Given the description of an element on the screen output the (x, y) to click on. 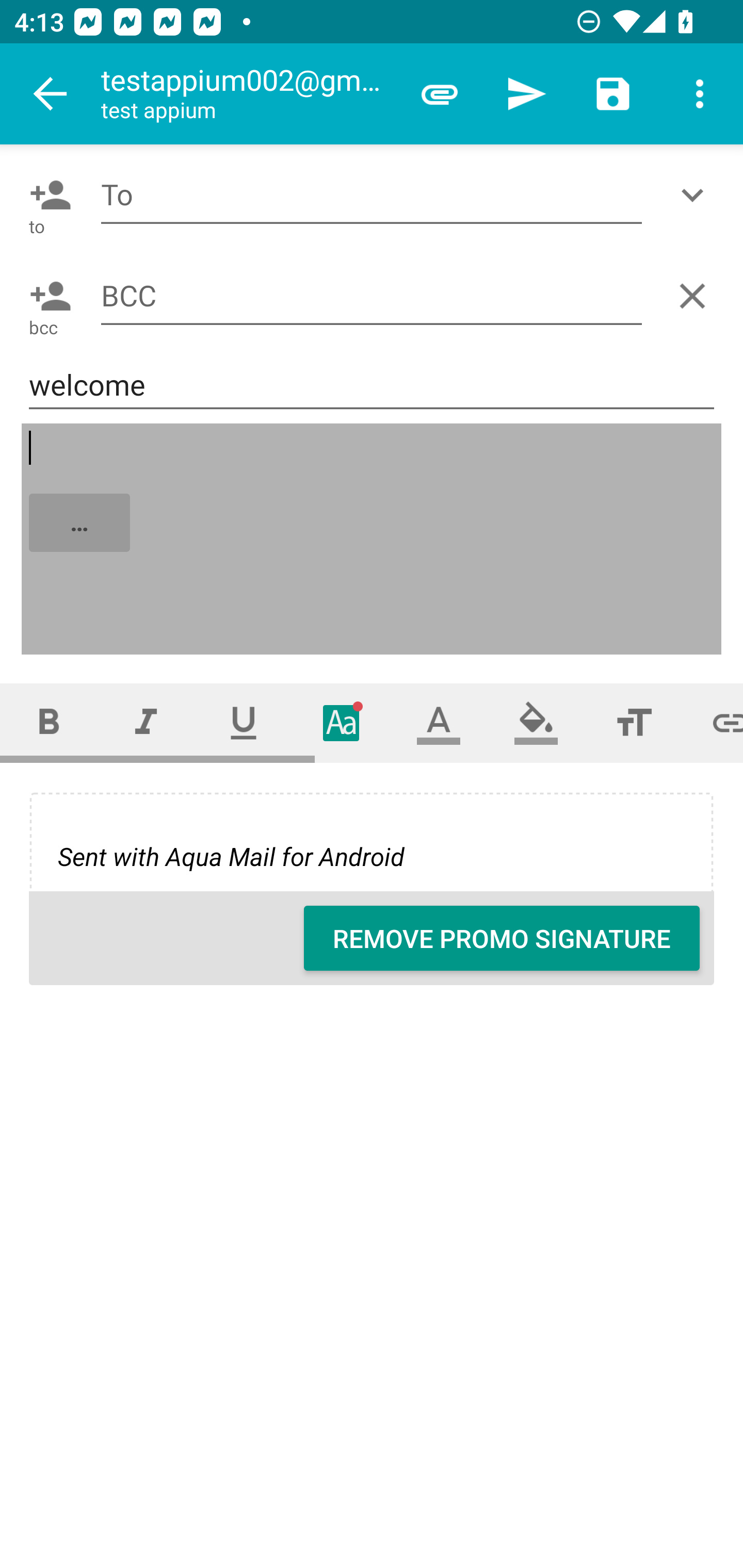
Navigate up (50, 93)
testappium002@gmail.com test appium (248, 93)
Attach (439, 93)
Send (525, 93)
Save (612, 93)
More options (699, 93)
Pick contact: To (46, 195)
Show/Add CC/BCC (696, 195)
To (371, 195)
Pick contact: BCC (46, 296)
Delete (696, 296)
BCC (371, 295)
welcome (371, 384)

…
 (372, 540)
Bold (48, 723)
Italic (145, 723)
Underline (243, 723)
Typeface (font) (341, 723)
Text color (438, 723)
Fill color (536, 723)
Font size (633, 723)
REMOVE PROMO SIGNATURE (501, 938)
